Given the description of an element on the screen output the (x, y) to click on. 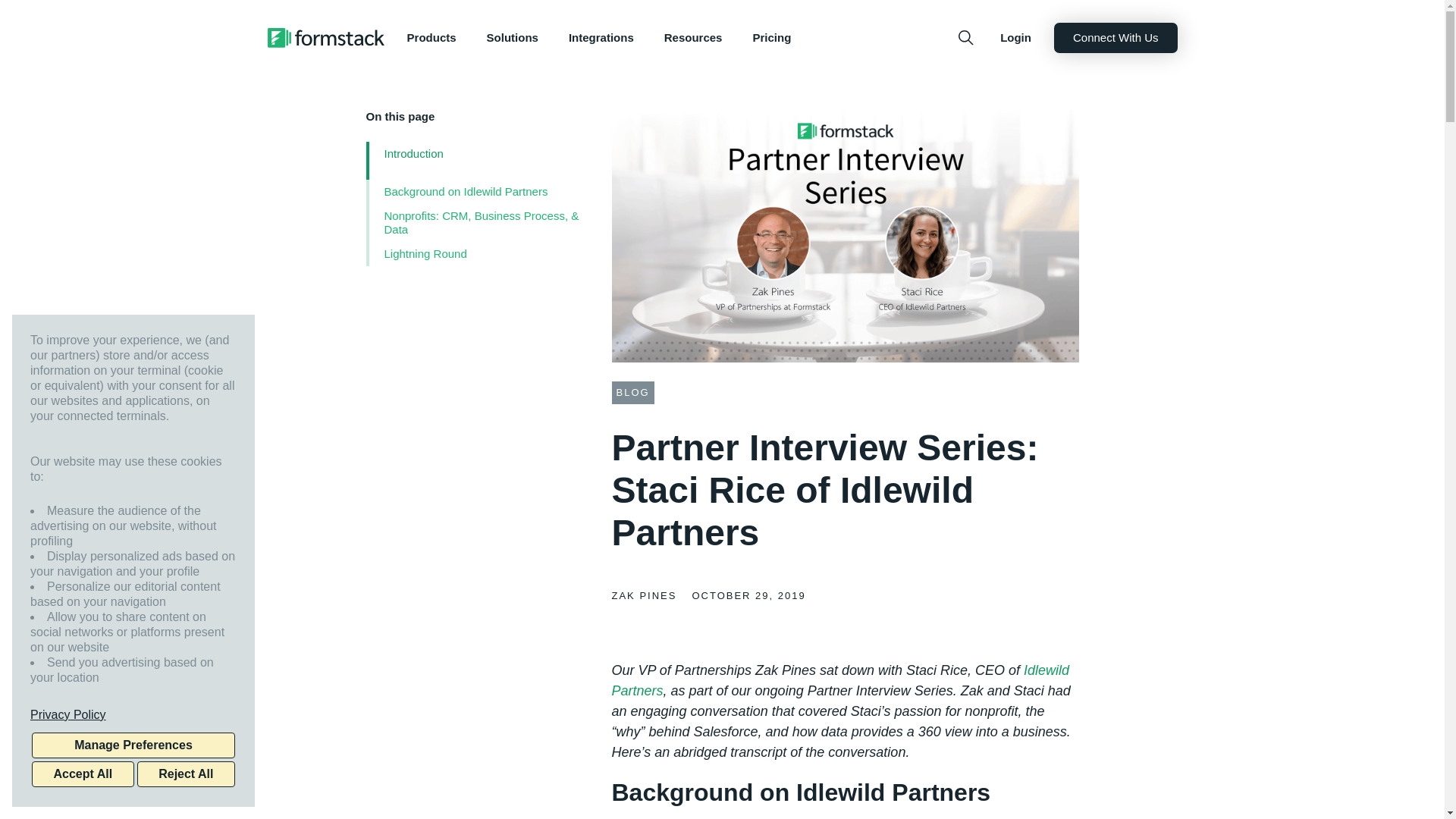
Products (431, 37)
Reject All (185, 774)
Accept All (82, 774)
Manage Preferences (133, 745)
Solutions (512, 37)
Privacy Policy (132, 714)
